Given the description of an element on the screen output the (x, y) to click on. 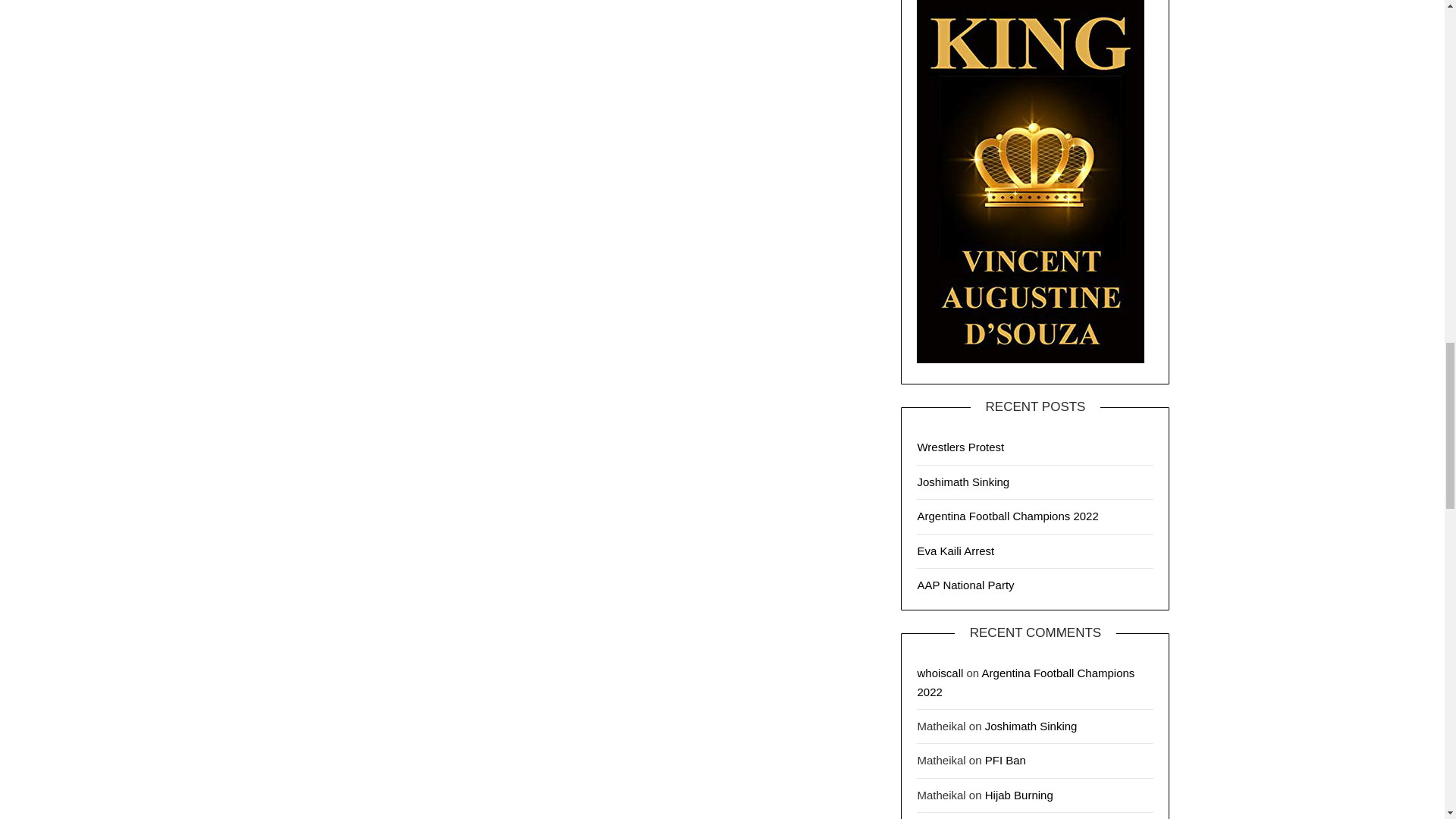
PFI Ban (1005, 759)
Argentina Football Champions 2022 (1007, 515)
AAP National Party (965, 584)
Eva Kaili Arrest (955, 550)
Joshimath Sinking (1031, 725)
Joshimath Sinking (963, 481)
Argentina Football Champions 2022 (1025, 681)
Wrestlers Protest (960, 446)
Hijab Burning (1018, 794)
whoiscall (939, 672)
